Given the description of an element on the screen output the (x, y) to click on. 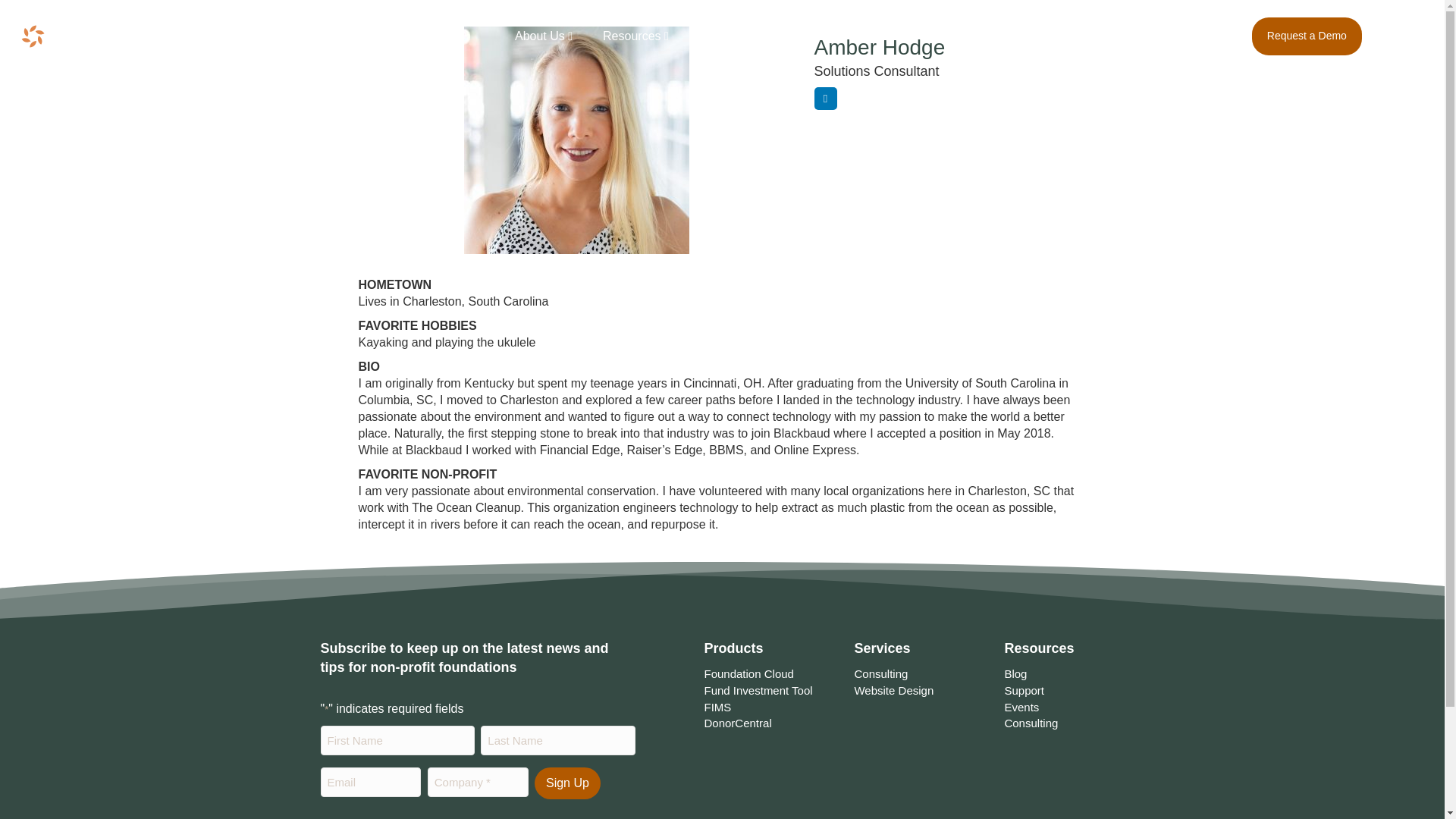
Support (1023, 689)
About Us (543, 43)
FIMS (716, 707)
Products (727, 43)
Request a Demo (1306, 36)
Sign Up (566, 783)
Website Design (893, 689)
Sign Up (566, 783)
DonorCentral (737, 722)
Partners (892, 43)
Foundation Cloud (748, 673)
Resources (636, 43)
Blog (1015, 673)
Linkedin (825, 97)
Services (812, 43)
